Given the description of an element on the screen output the (x, y) to click on. 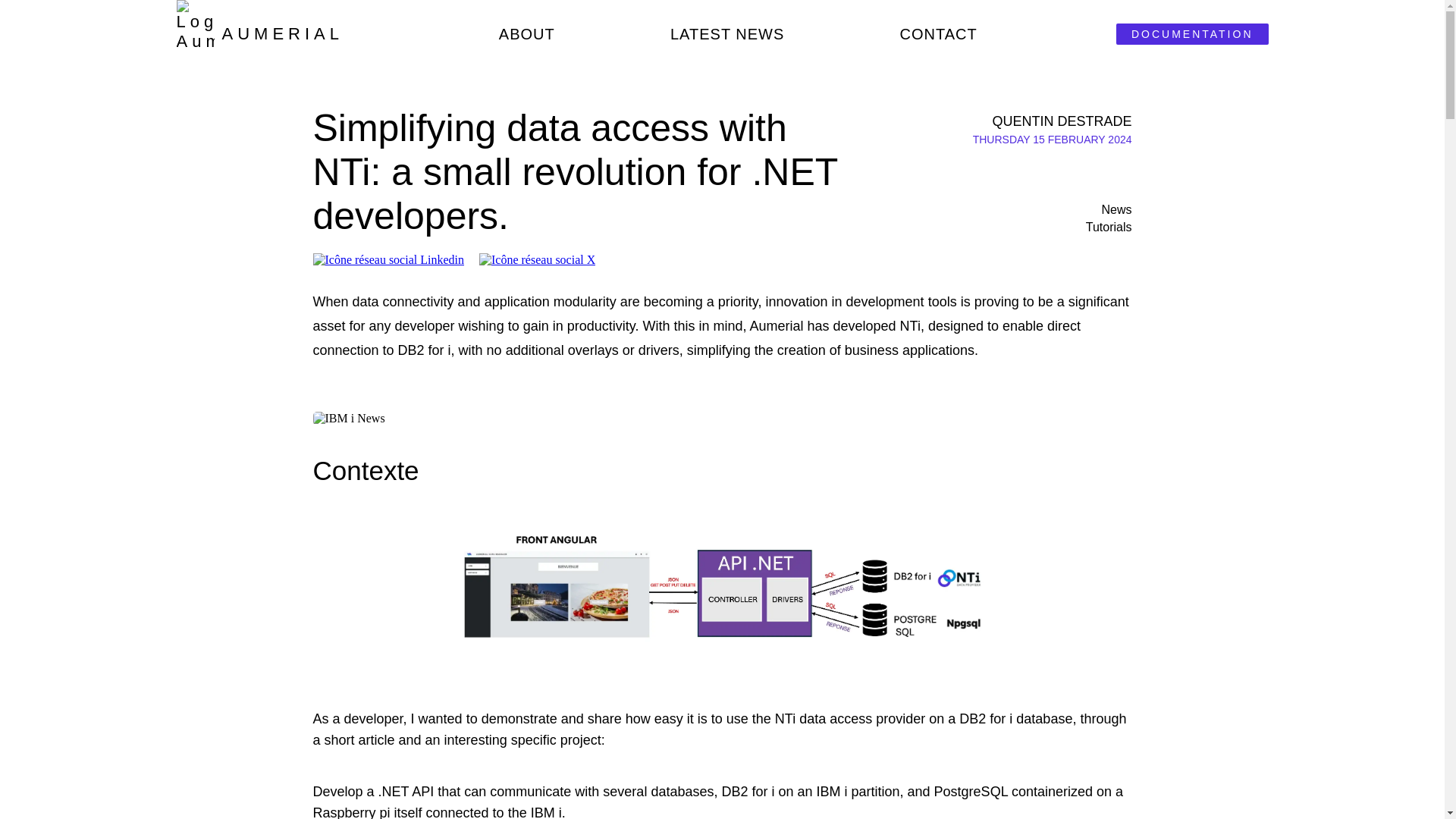
DOCUMENTATION (1192, 34)
ABOUT (526, 34)
AUMERIAL (259, 33)
CONTACT (938, 34)
LATEST NEWS (726, 34)
